Given the description of an element on the screen output the (x, y) to click on. 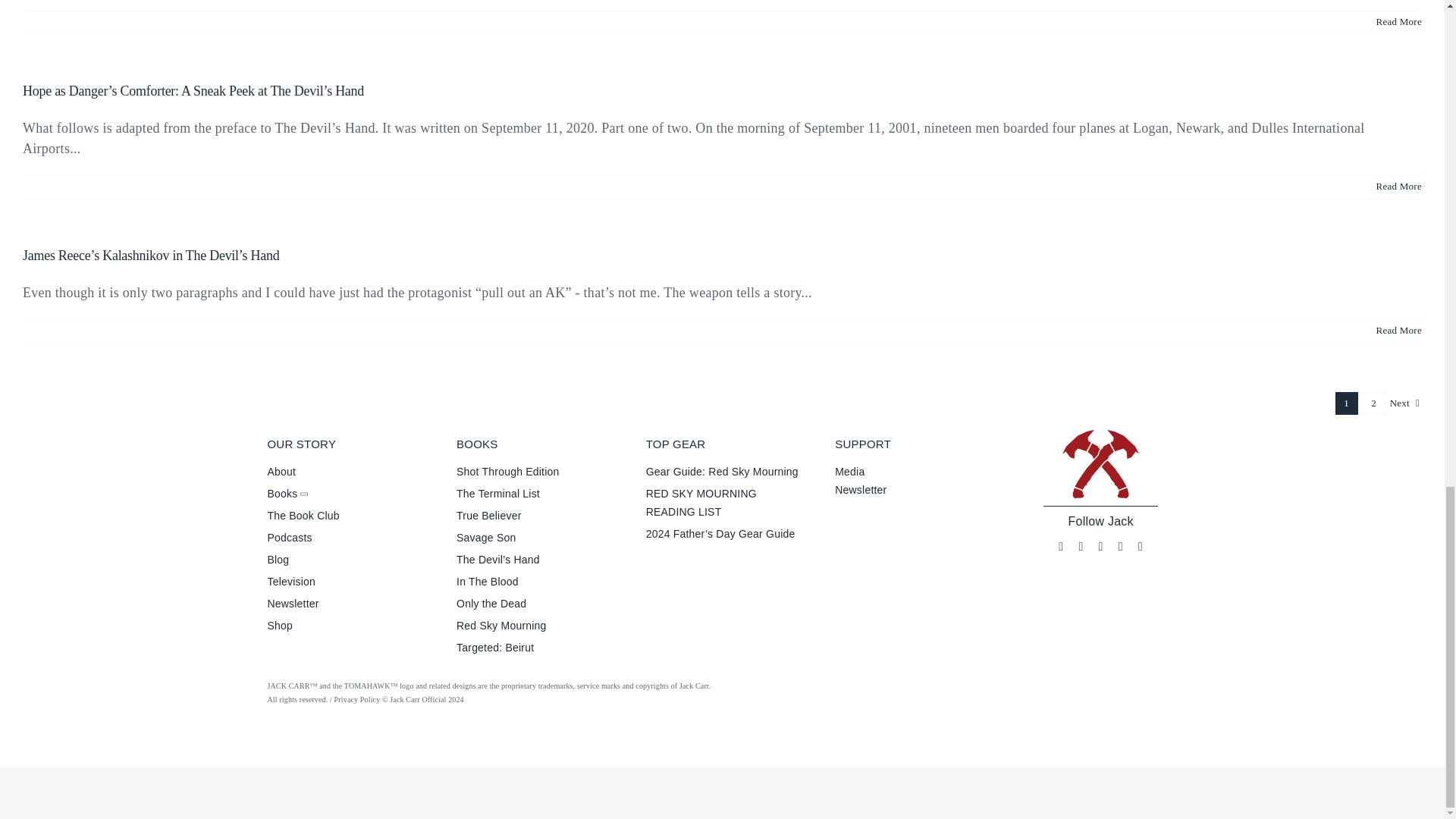
Asset 1 (1100, 463)
